Given the description of an element on the screen output the (x, y) to click on. 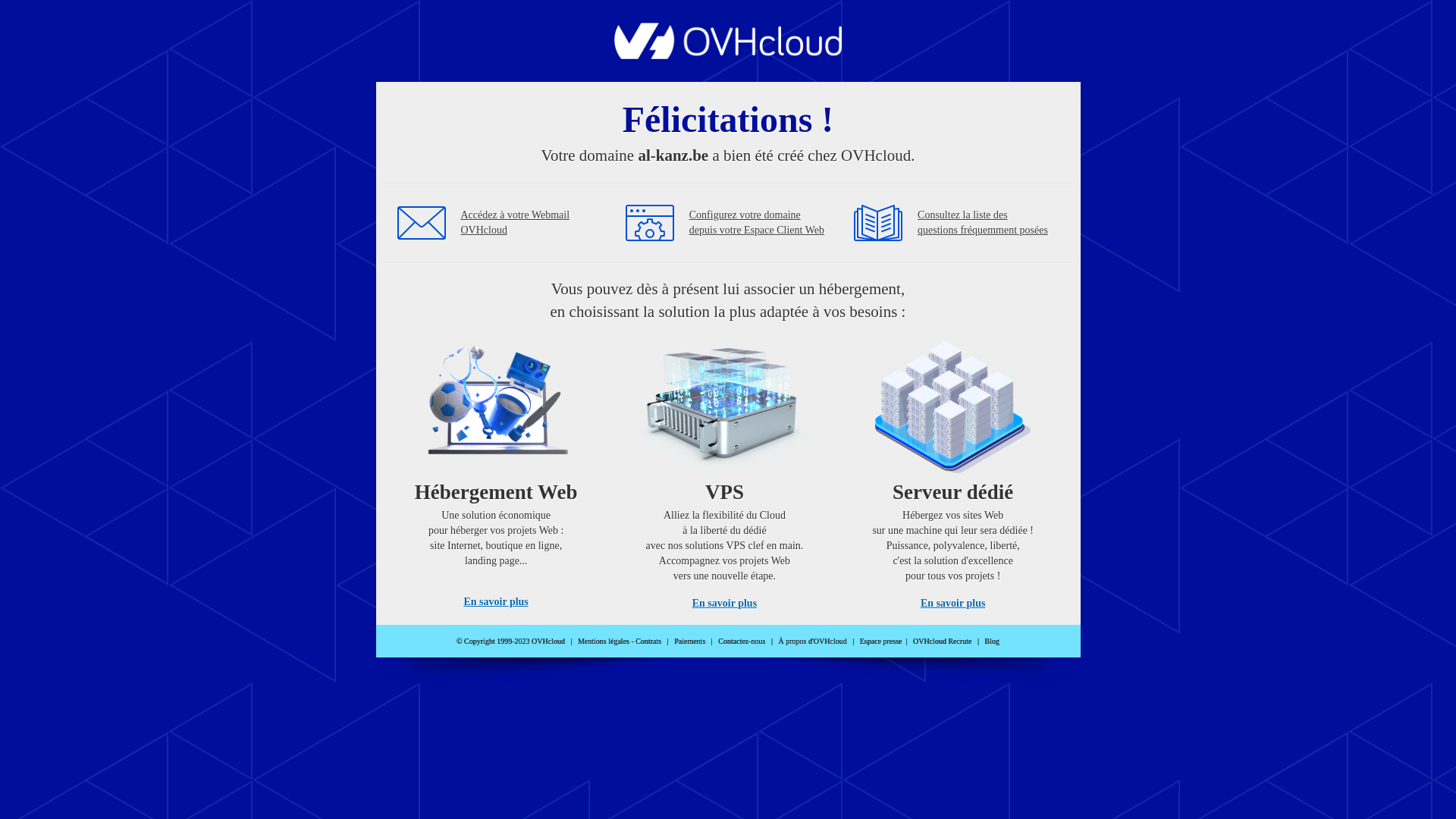
En savoir plus Element type: text (724, 602)
Contactez-nous Element type: text (741, 641)
Paiements Element type: text (689, 641)
OVHcloud Element type: hover (727, 54)
VPS Element type: hover (724, 469)
Configurez votre domaine
depuis votre Espace Client Web Element type: text (756, 222)
Blog Element type: text (992, 641)
Espace presse Element type: text (880, 641)
En savoir plus Element type: text (952, 602)
OVHcloud Recrute Element type: text (942, 641)
En savoir plus Element type: text (495, 601)
